Given the description of an element on the screen output the (x, y) to click on. 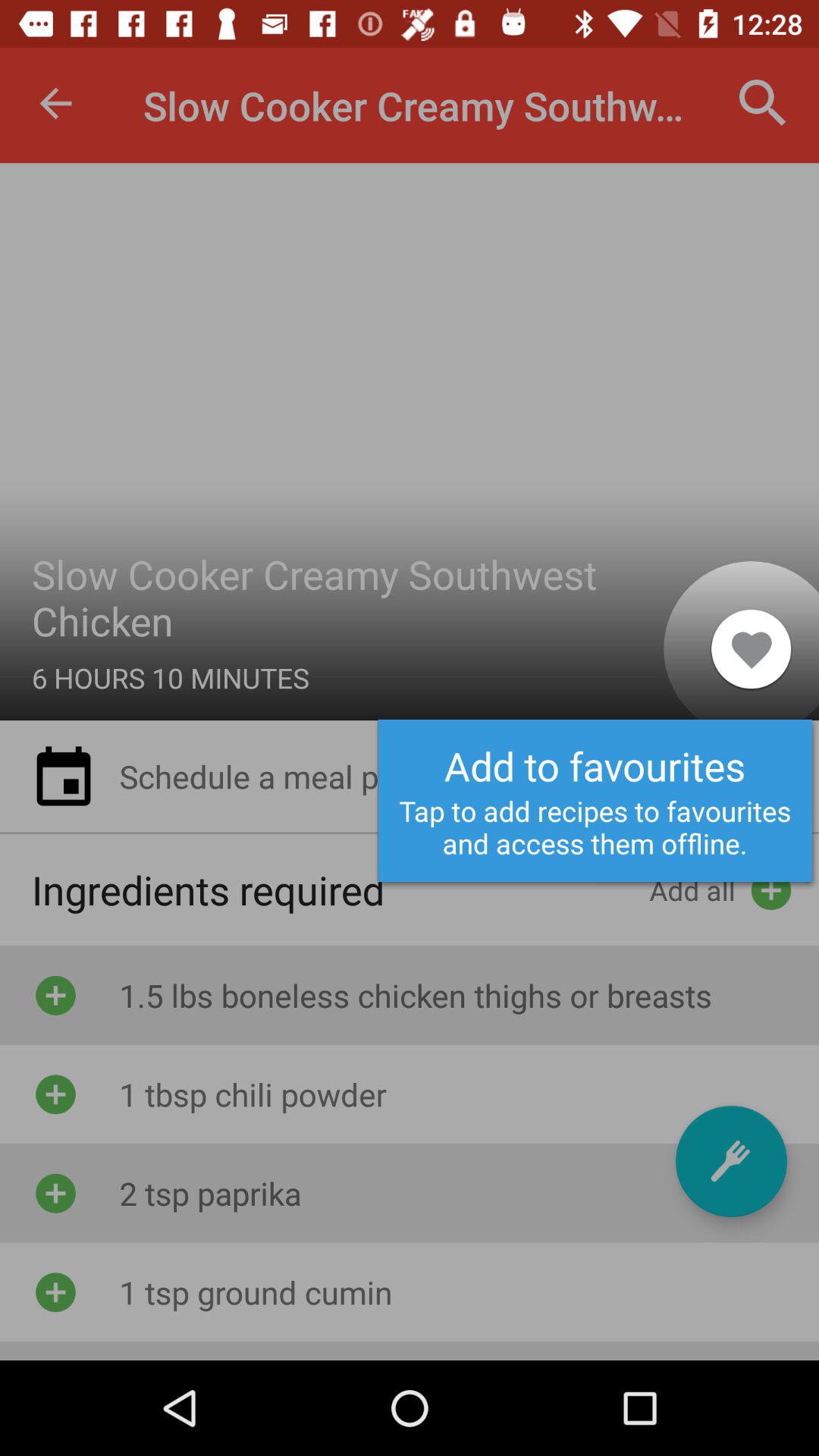
select item to the right of slow cooker creamy (763, 103)
